Given the description of an element on the screen output the (x, y) to click on. 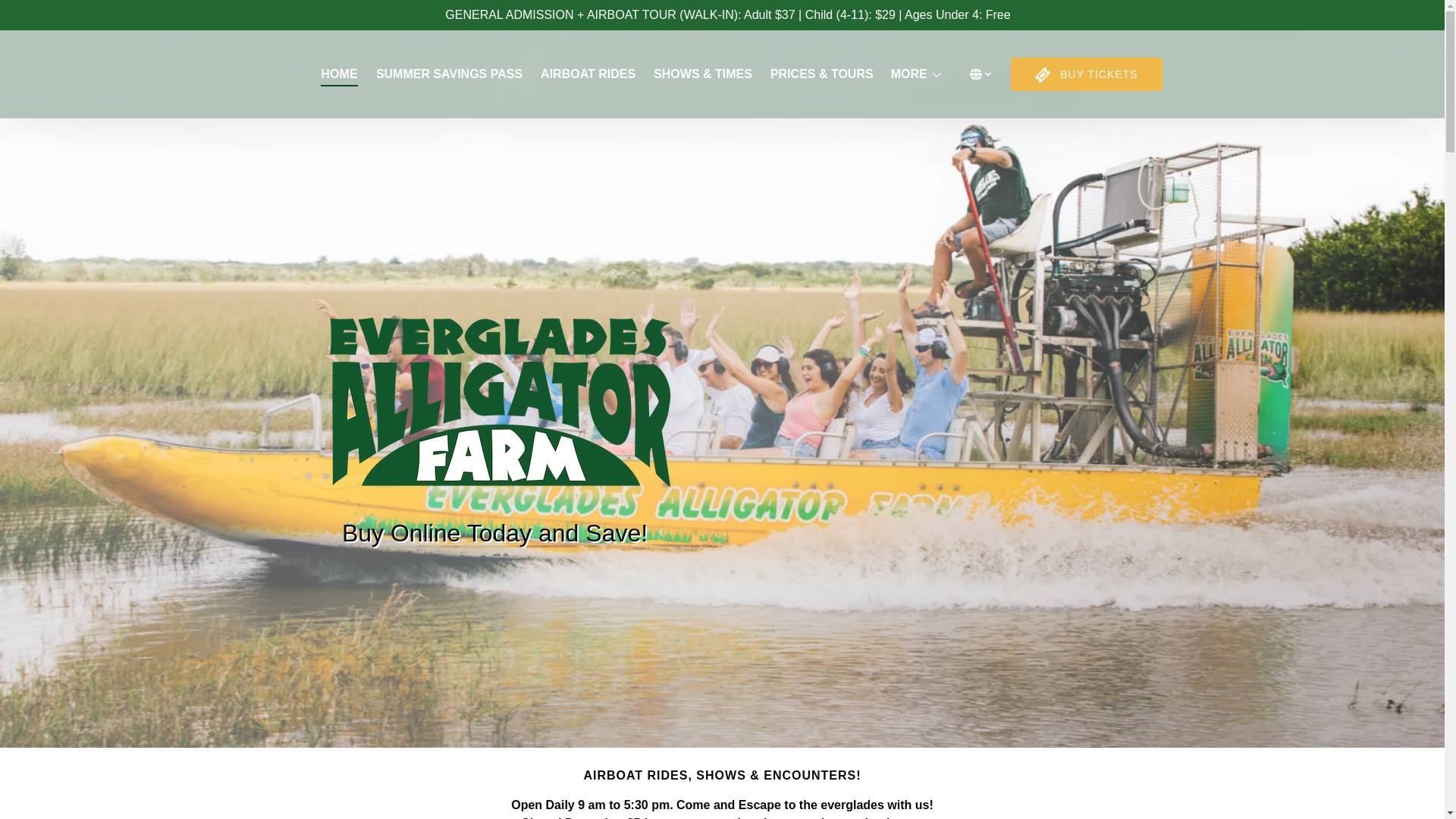
AIRBOAT RIDES (588, 74)
Open More Menu (920, 69)
TICKET (1042, 74)
Skip to content (47, 16)
Skip to footer (42, 16)
HOME (338, 74)
SUMMER SAVINGS PASS (448, 74)
MORE (917, 74)
Skip to primary navigation (77, 16)
TICKET BUY TICKETS (1085, 73)
